Given the description of an element on the screen output the (x, y) to click on. 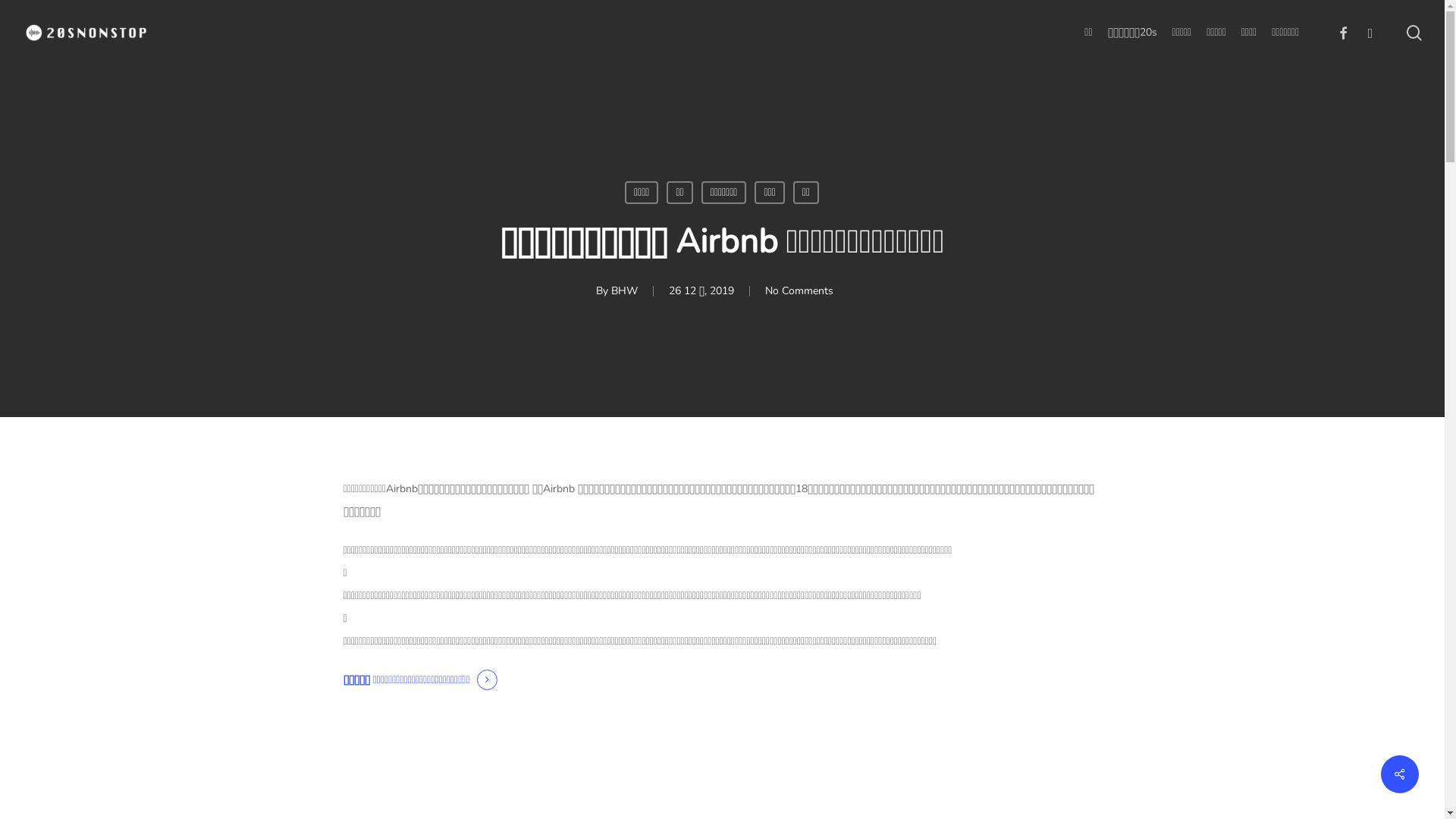
No Comments Element type: text (799, 290)
BHW Element type: text (624, 290)
facebook Element type: text (1342, 32)
instagram Element type: text (1369, 32)
search Element type: text (1414, 32)
